Given the description of an element on the screen output the (x, y) to click on. 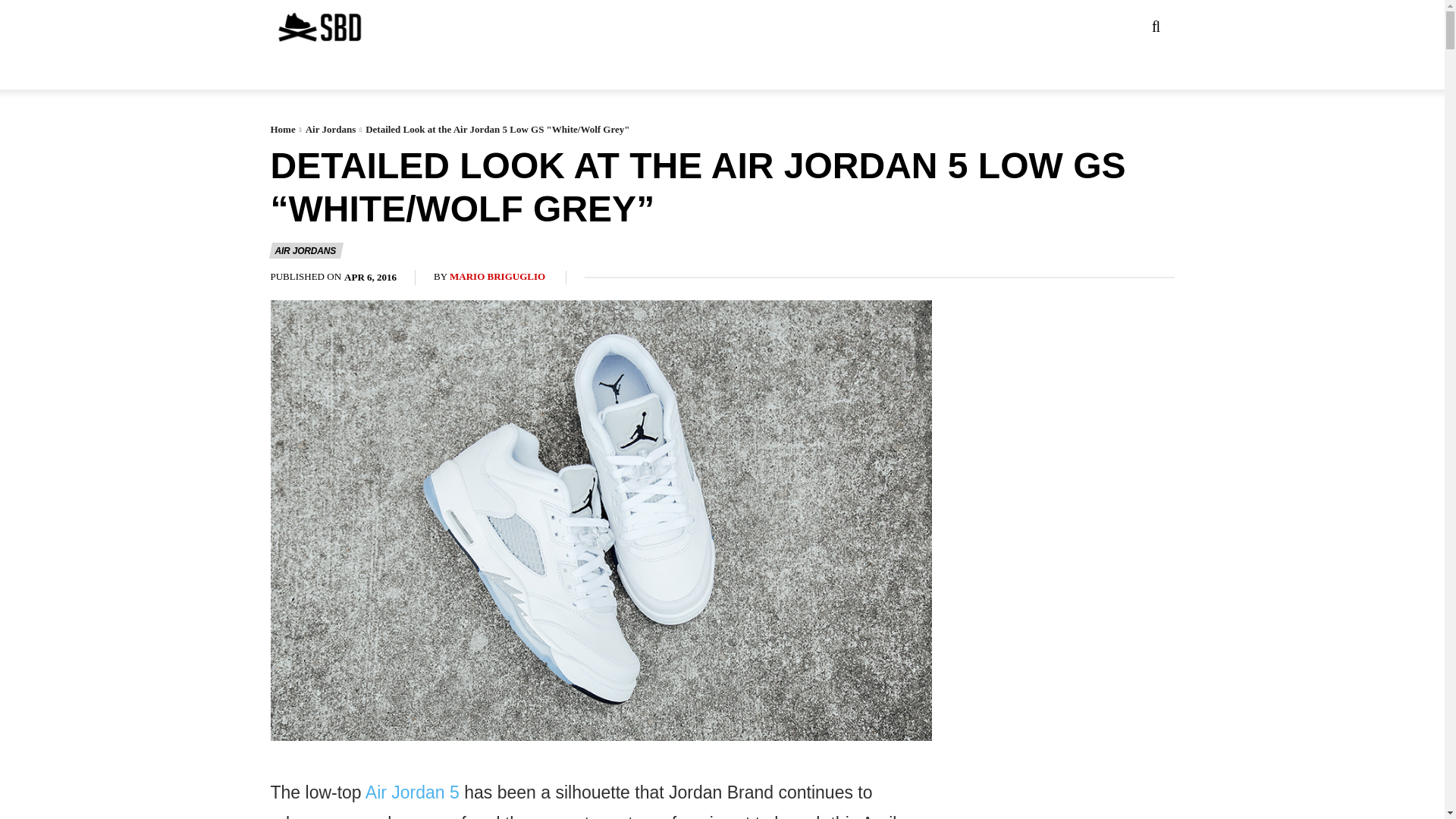
Sneaker News and Release Dates (318, 26)
View all posts in Air Jordans (330, 129)
Sneaker News and Release Dates (288, 26)
